Given the description of an element on the screen output the (x, y) to click on. 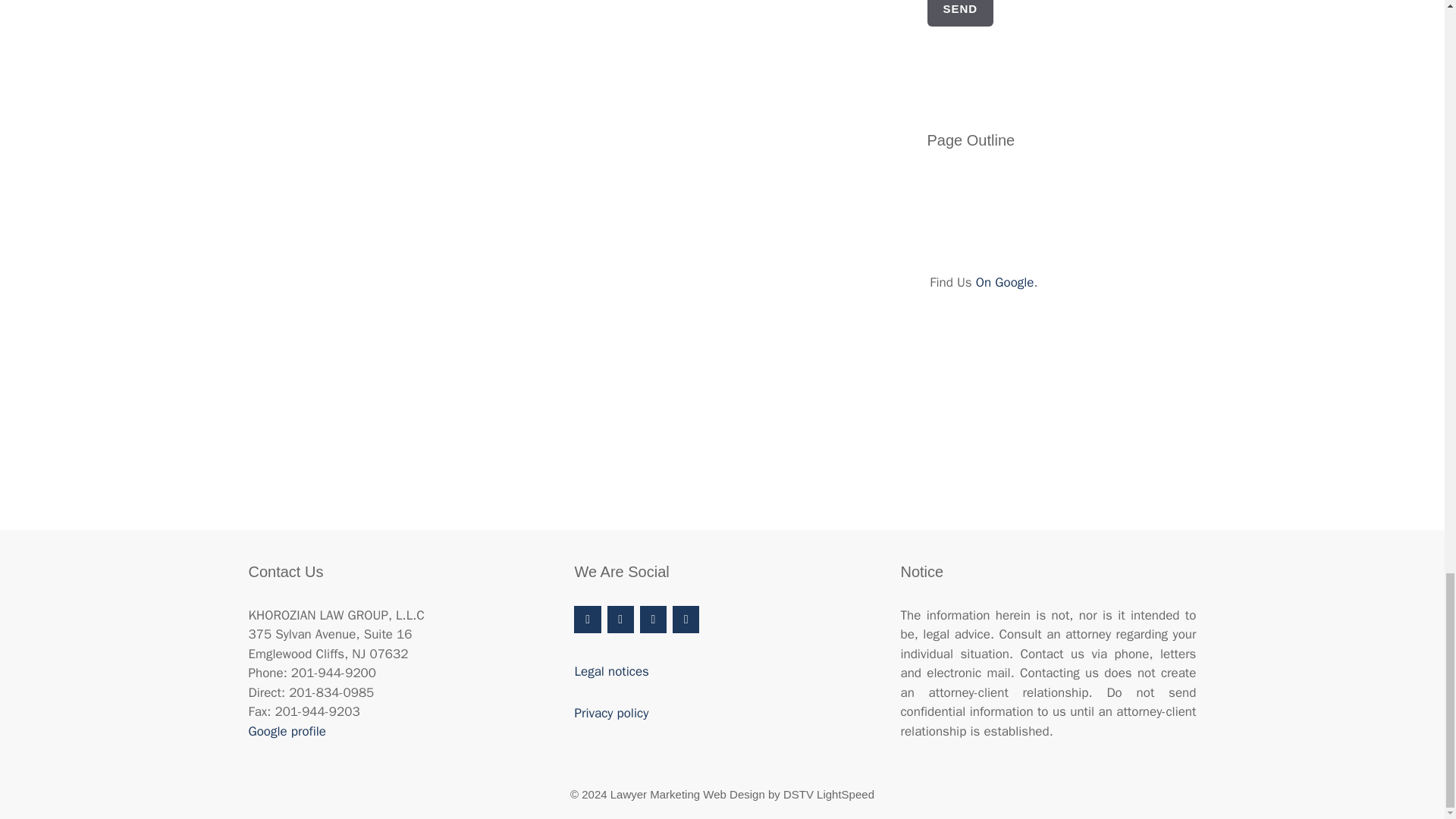
Facebook (586, 619)
YouTube (653, 619)
View Google profile (287, 731)
Twitter (620, 619)
Send (959, 13)
